Given the description of an element on the screen output the (x, y) to click on. 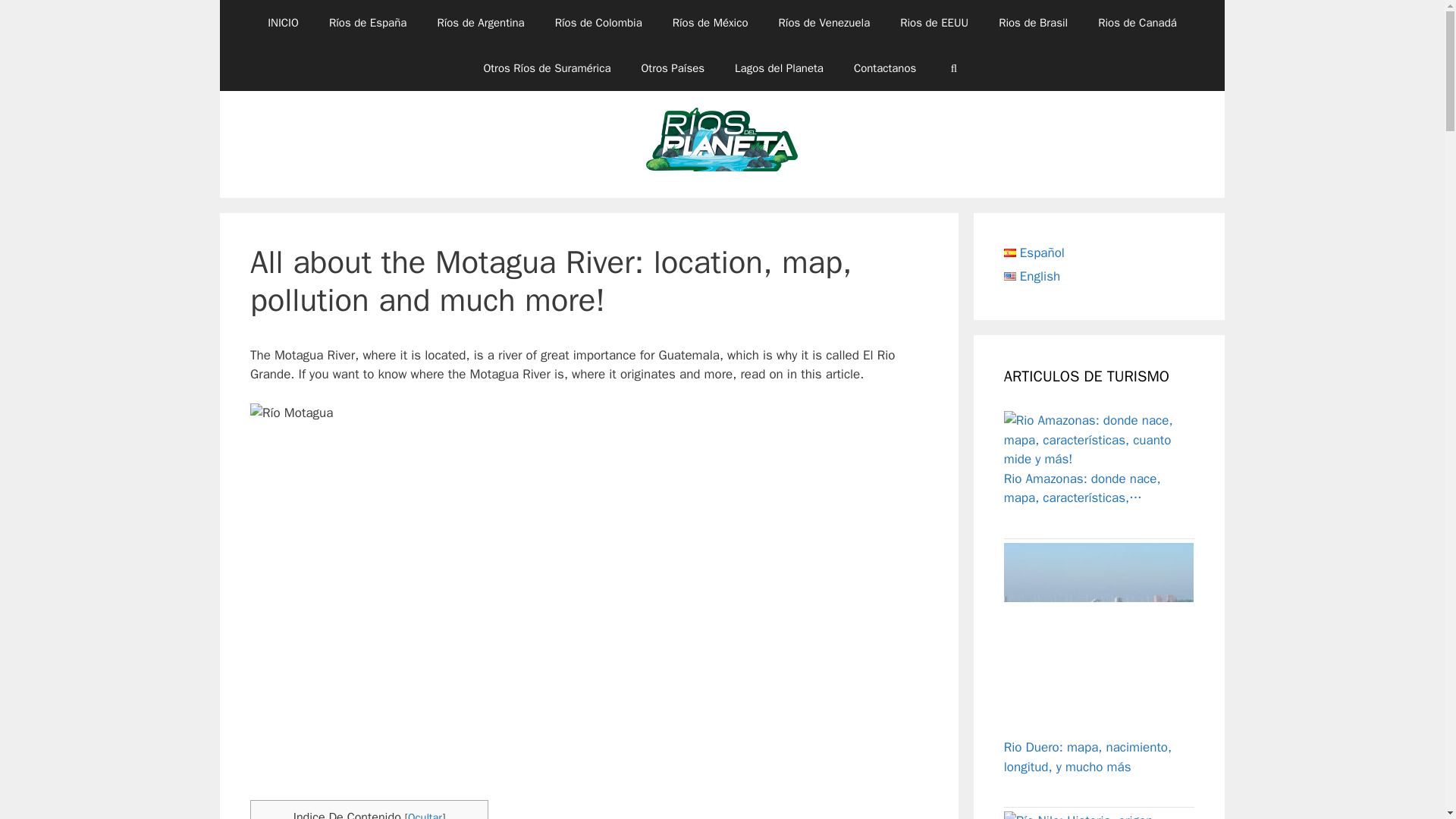
Contactanos (884, 67)
Lagos del Planeta (778, 67)
Every River on Earth (722, 143)
INICIO (282, 22)
Rios de Brasil (1033, 22)
Every River on Earth (722, 144)
Ocultar (424, 814)
Rios de EEUU (934, 22)
